Given the description of an element on the screen output the (x, y) to click on. 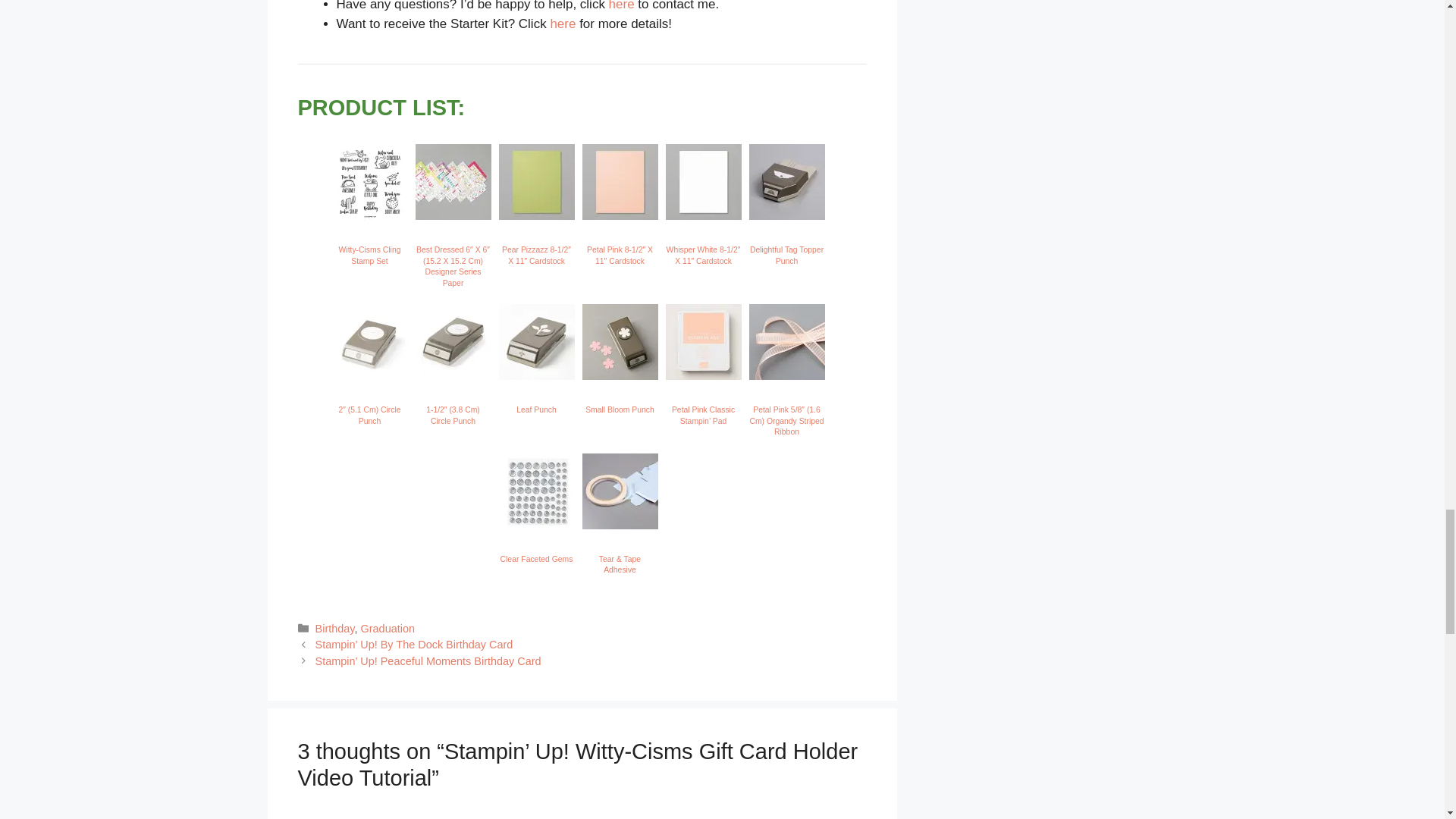
Witty-Cisms Cling Stamp Set (370, 255)
here (562, 23)
Witty-Cisms Cling Stamp Set (369, 215)
here (621, 5)
Witty-Cisms Cling Stamp Set (369, 182)
Witty-Cisms Cling Stamp Set (370, 255)
